Given the description of an element on the screen output the (x, y) to click on. 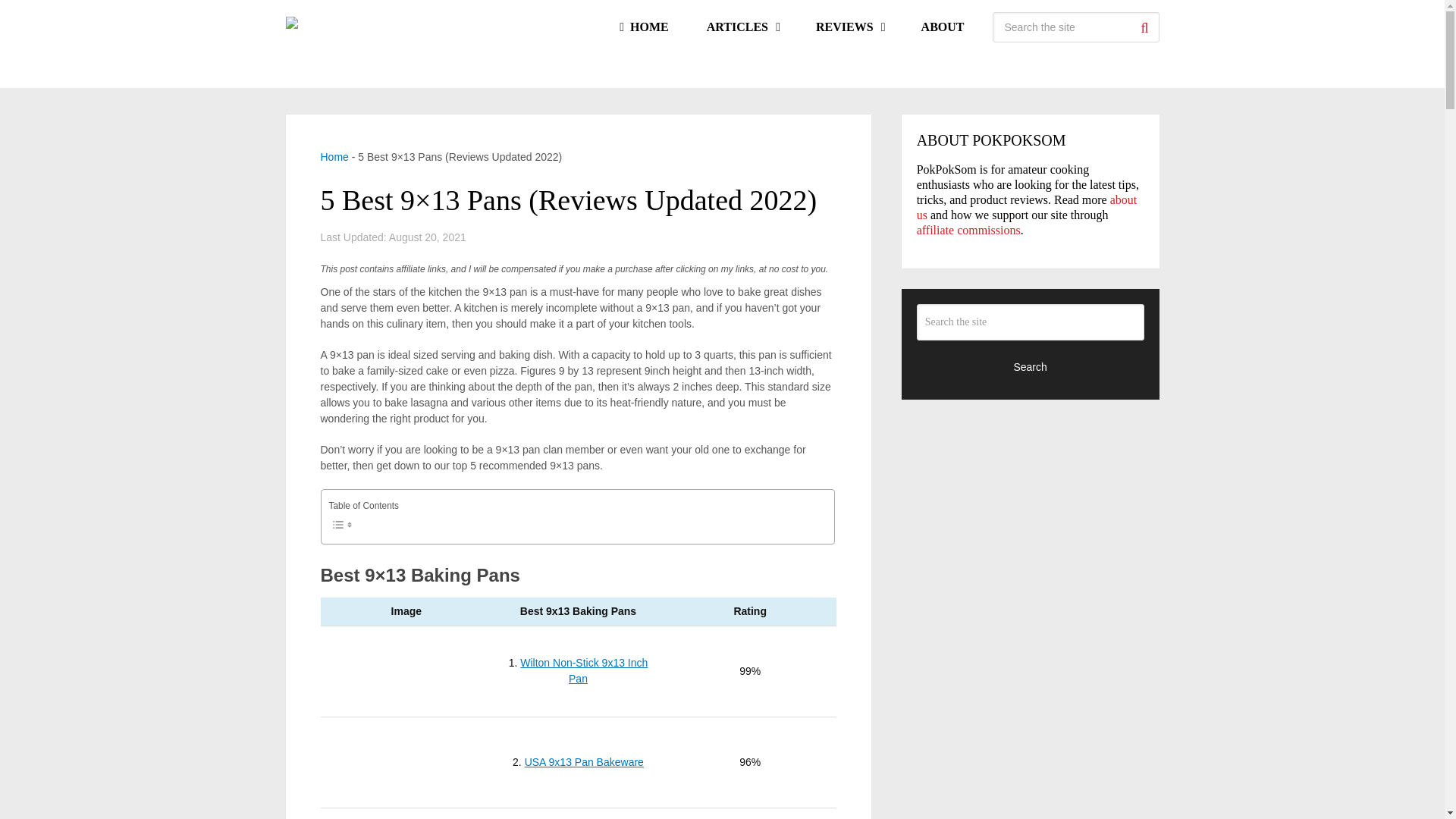
Home (333, 156)
REVIEWS (849, 27)
Search (1143, 27)
HOME (643, 27)
ARTICLES (741, 27)
ABOUT (943, 27)
